Given the description of an element on the screen output the (x, y) to click on. 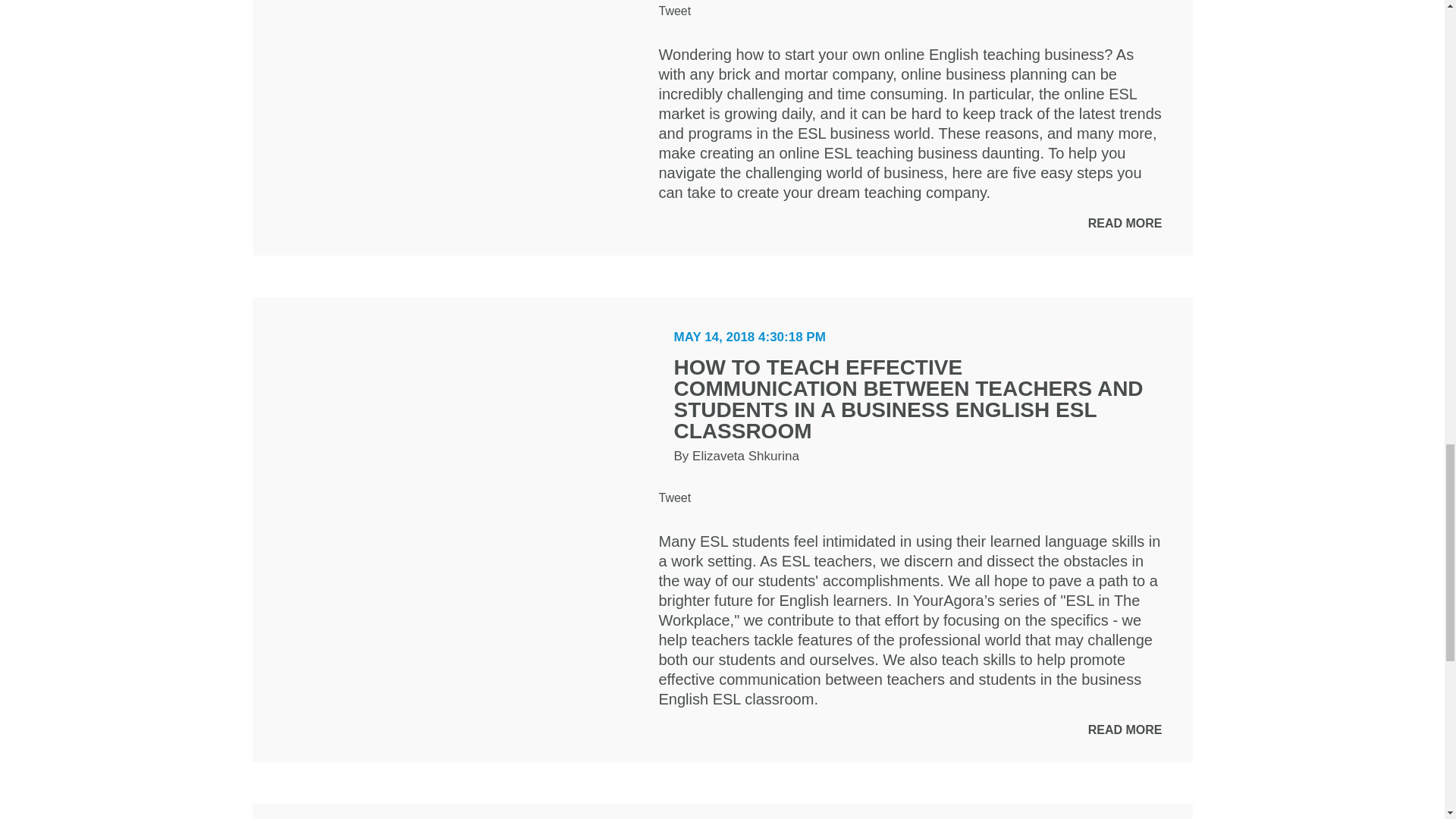
Elizaveta Shkurina (746, 455)
Tweet (674, 10)
READ MORE (1124, 223)
Tweet (674, 497)
READ MORE (1124, 730)
